Given the description of an element on the screen output the (x, y) to click on. 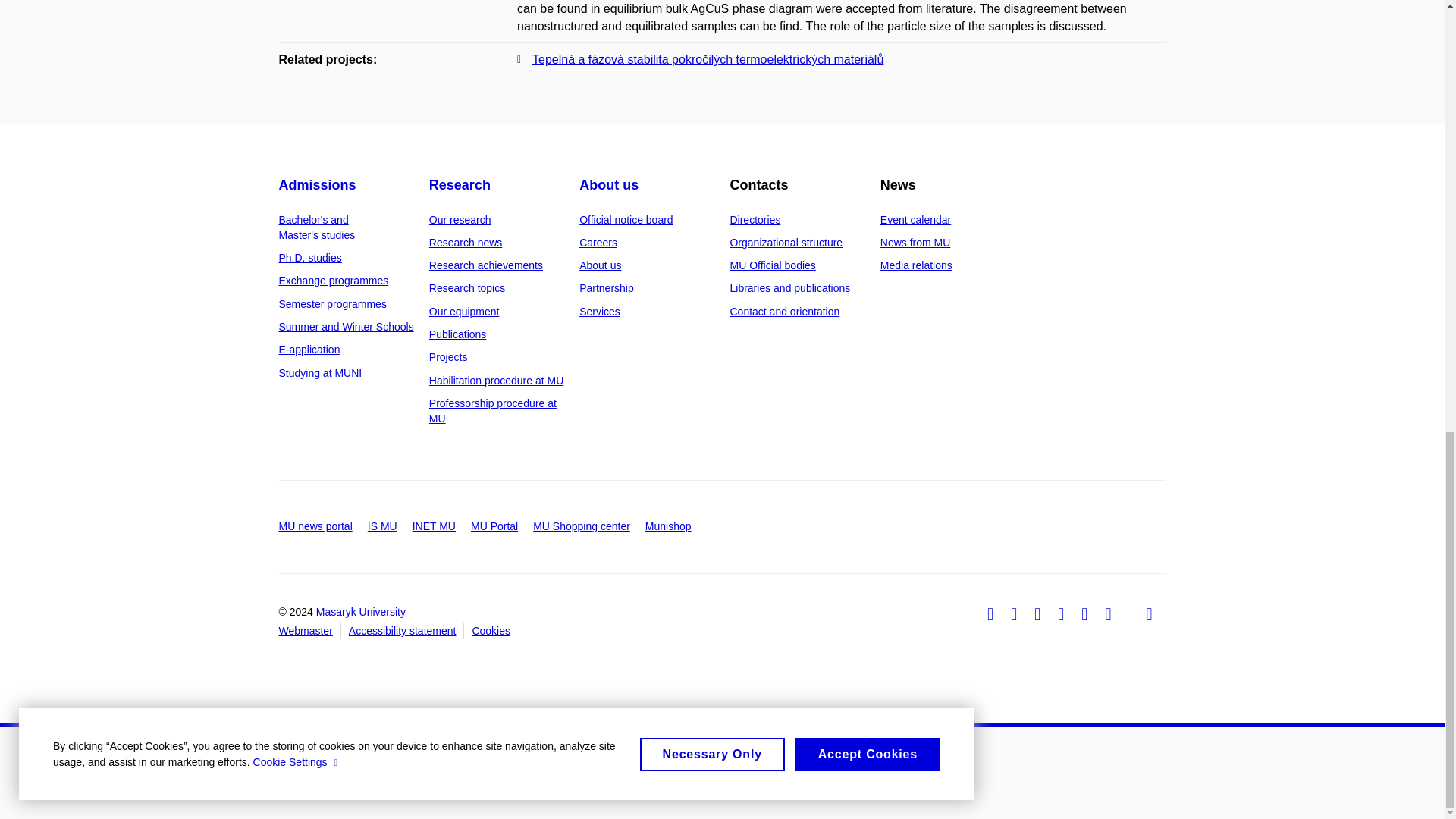
Our research (460, 219)
Our equipment (464, 311)
Exchange programmes (333, 280)
Admissions (317, 184)
E-application (309, 349)
Research news (465, 242)
Research topics (467, 287)
Projects (448, 357)
Summer and Winter Schools (346, 326)
Studying at MUNI (320, 372)
